Given the description of an element on the screen output the (x, y) to click on. 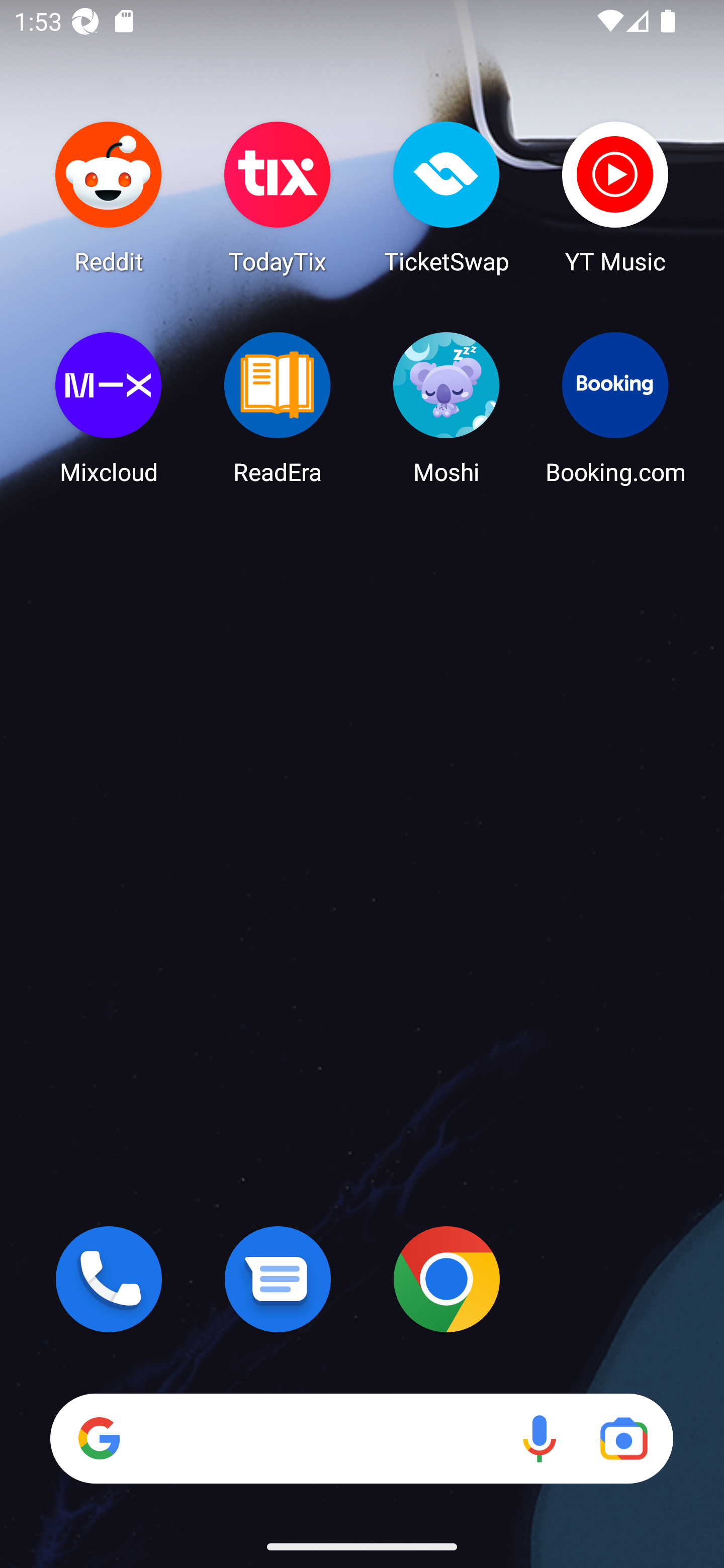
Reddit (108, 196)
TodayTix (277, 196)
TicketSwap (445, 196)
YT Music (615, 196)
Mixcloud (108, 407)
ReadEra (277, 407)
Moshi (445, 407)
Booking.com (615, 407)
Phone (108, 1279)
Messages (277, 1279)
Chrome (446, 1279)
Search Voice search Google Lens (361, 1438)
Voice search (539, 1438)
Google Lens (623, 1438)
